Given the description of an element on the screen output the (x, y) to click on. 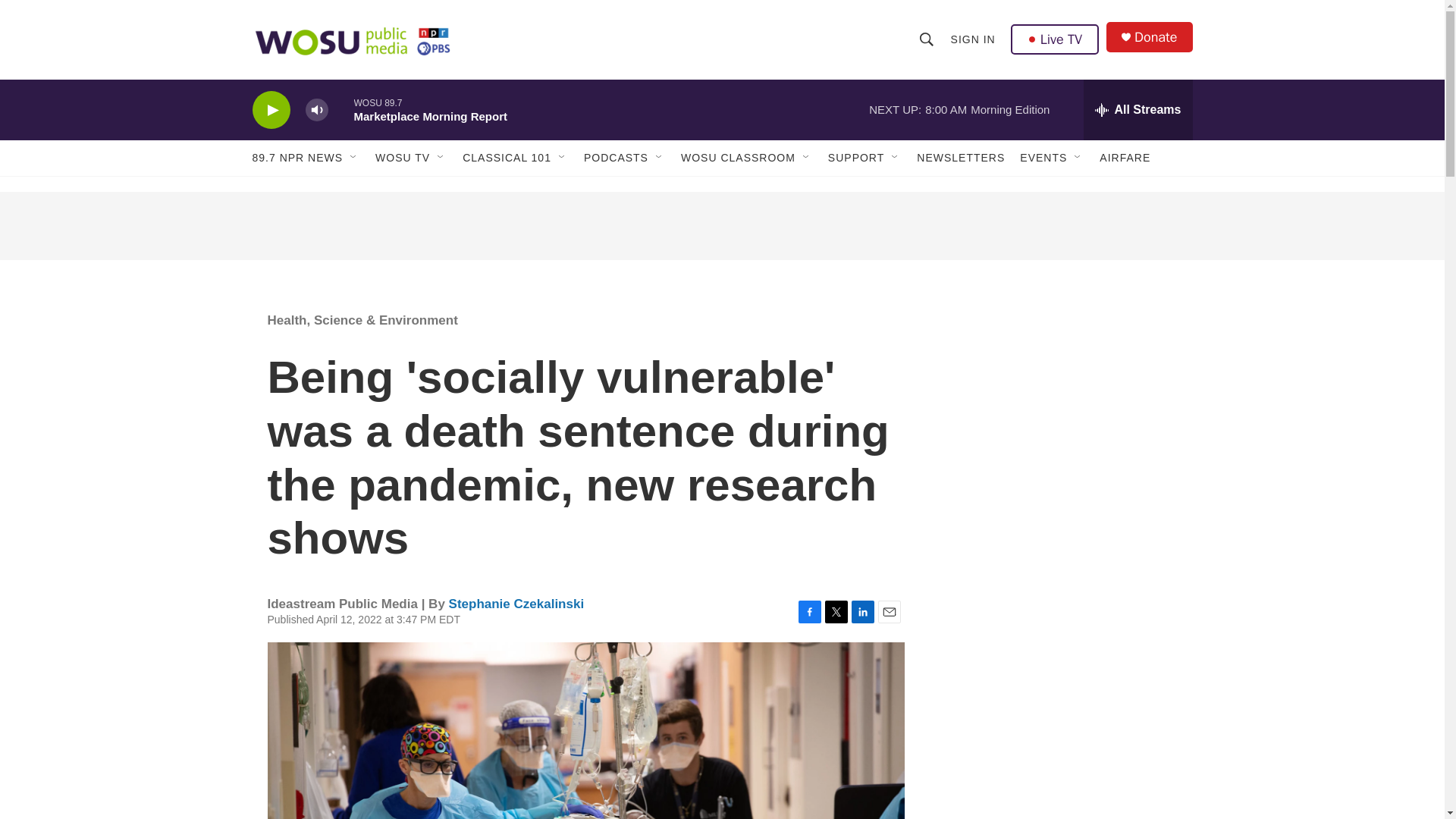
3rd party ad content (721, 225)
3rd party ad content (1062, 619)
3rd party ad content (1062, 400)
